Given the description of an element on the screen output the (x, y) to click on. 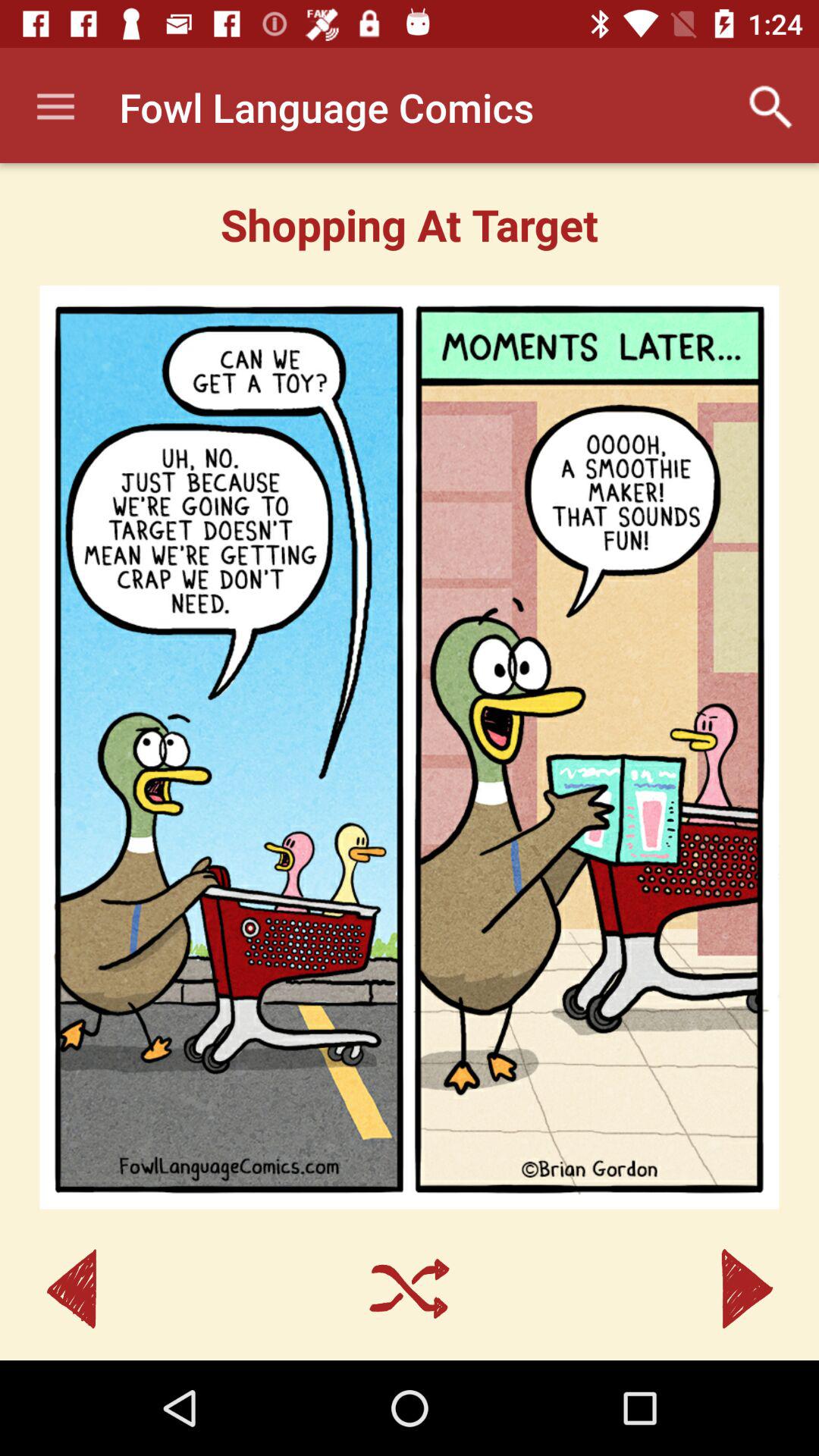
turn on icon at the top left corner (55, 107)
